Given the description of an element on the screen output the (x, y) to click on. 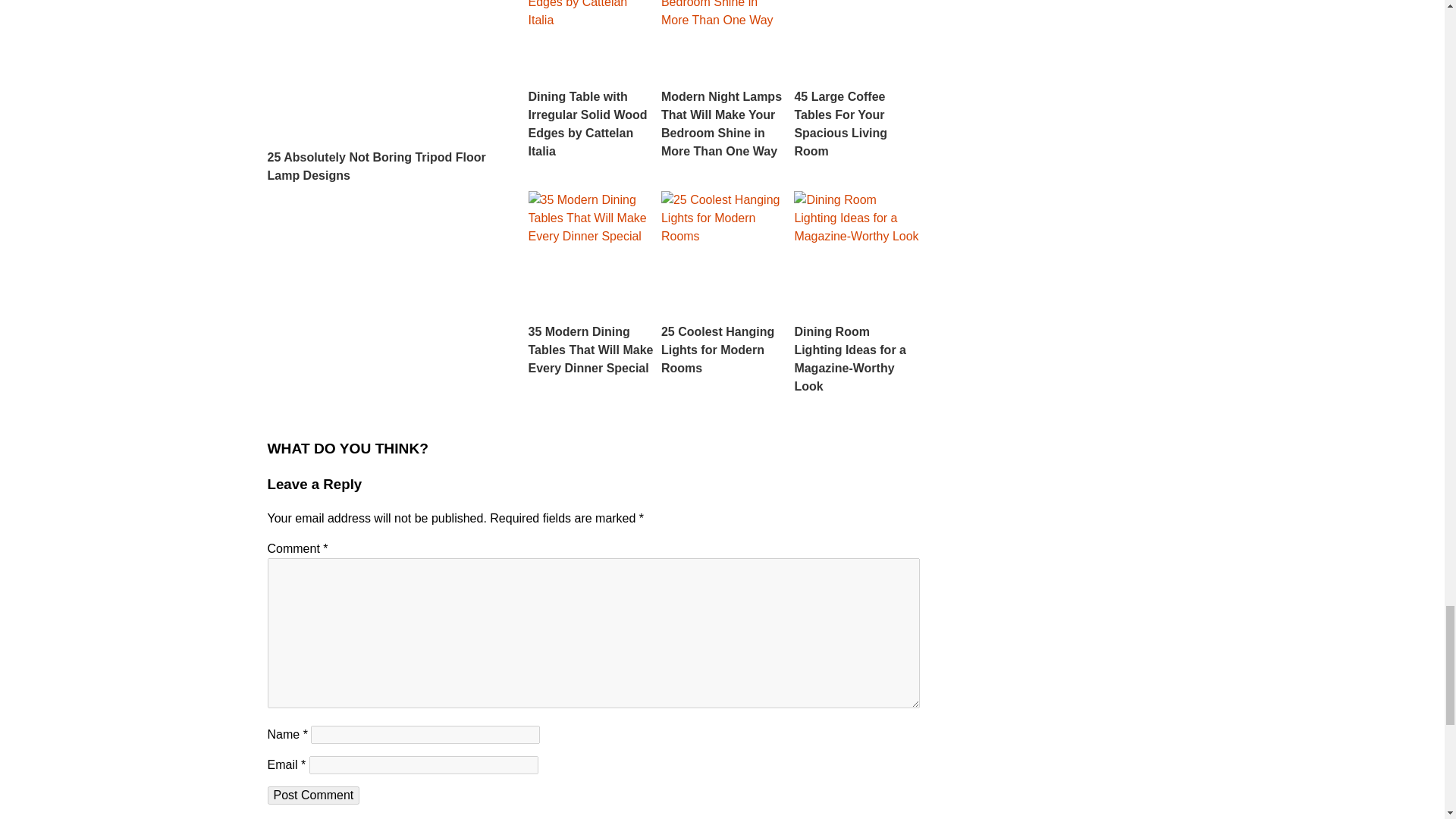
25 Absolutely Not Boring Tripod Floor Lamp Designs (385, 92)
Post Comment (312, 795)
25 Absolutely Not Boring Tripod Floor Lamp Designs (385, 92)
Post Comment (312, 795)
